Given the description of an element on the screen output the (x, y) to click on. 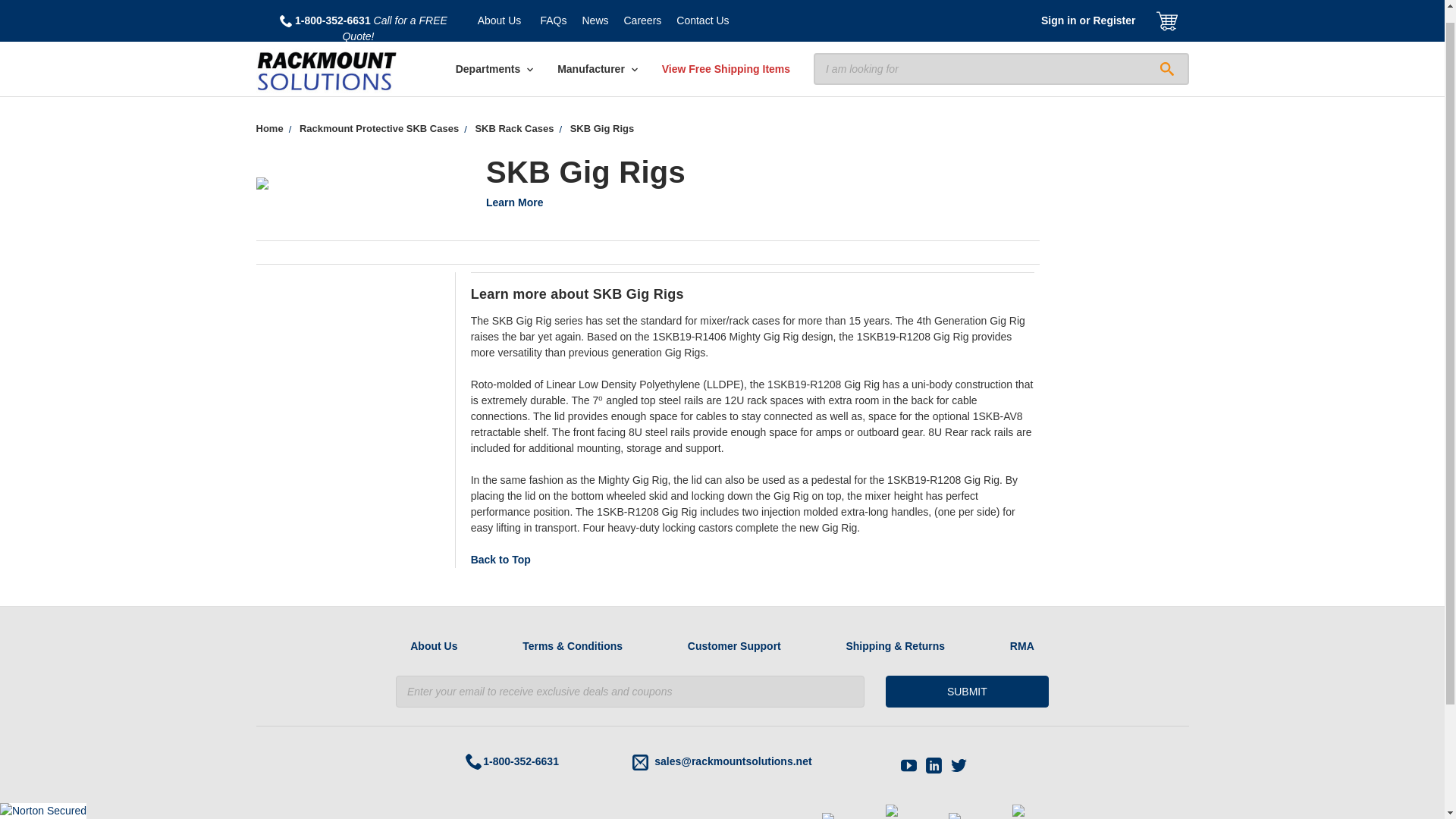
FAQs (552, 13)
News (594, 13)
Contact Us (702, 13)
About Us (499, 13)
Register (1113, 13)
1-800-352-6631 Call for a FREE Quote! (362, 22)
Sign in (1058, 13)
Careers (641, 13)
Submit (966, 691)
Rackmount Solutions (326, 57)
